Given the description of an element on the screen output the (x, y) to click on. 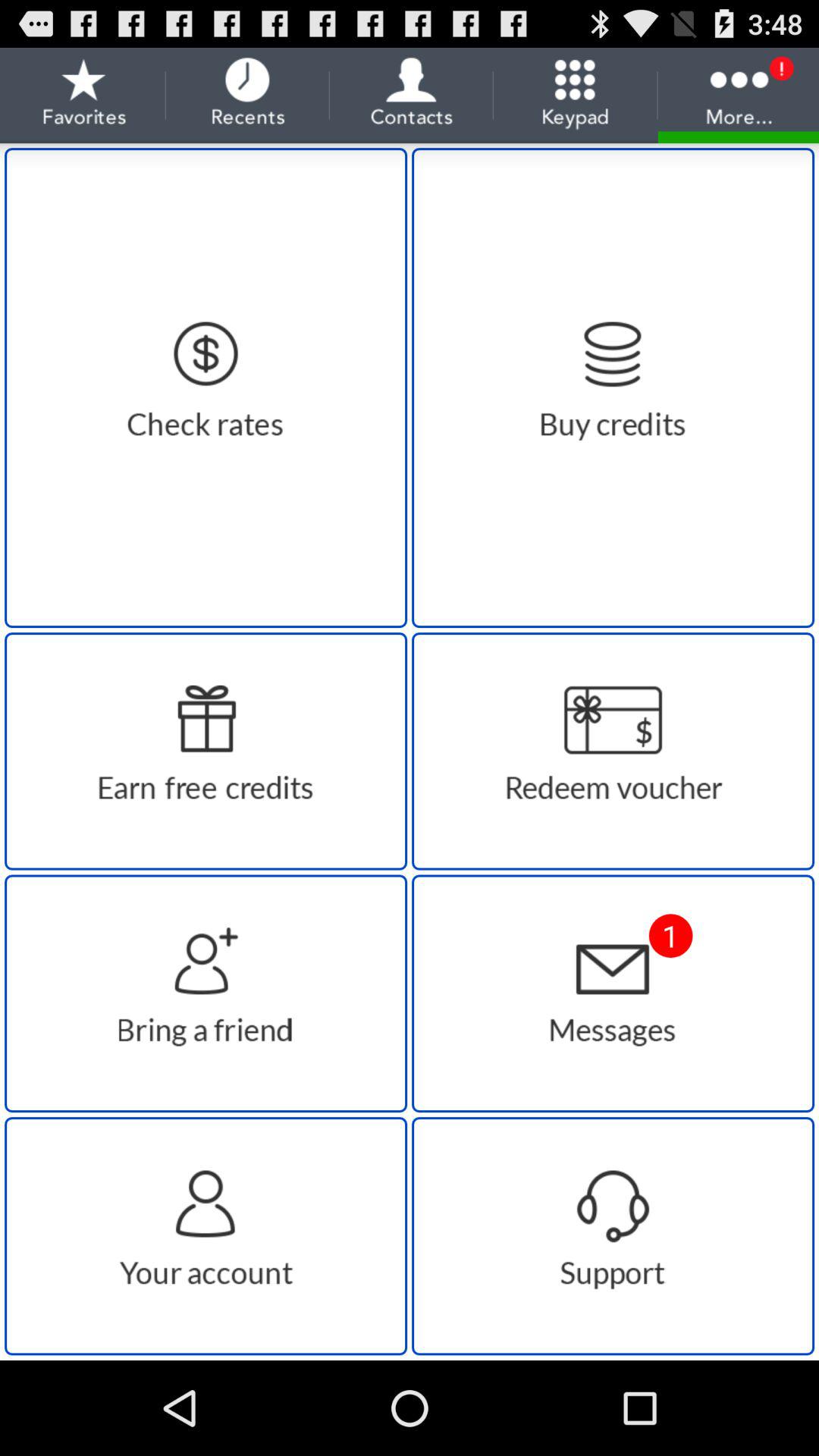
account settings (205, 1236)
